Given the description of an element on the screen output the (x, y) to click on. 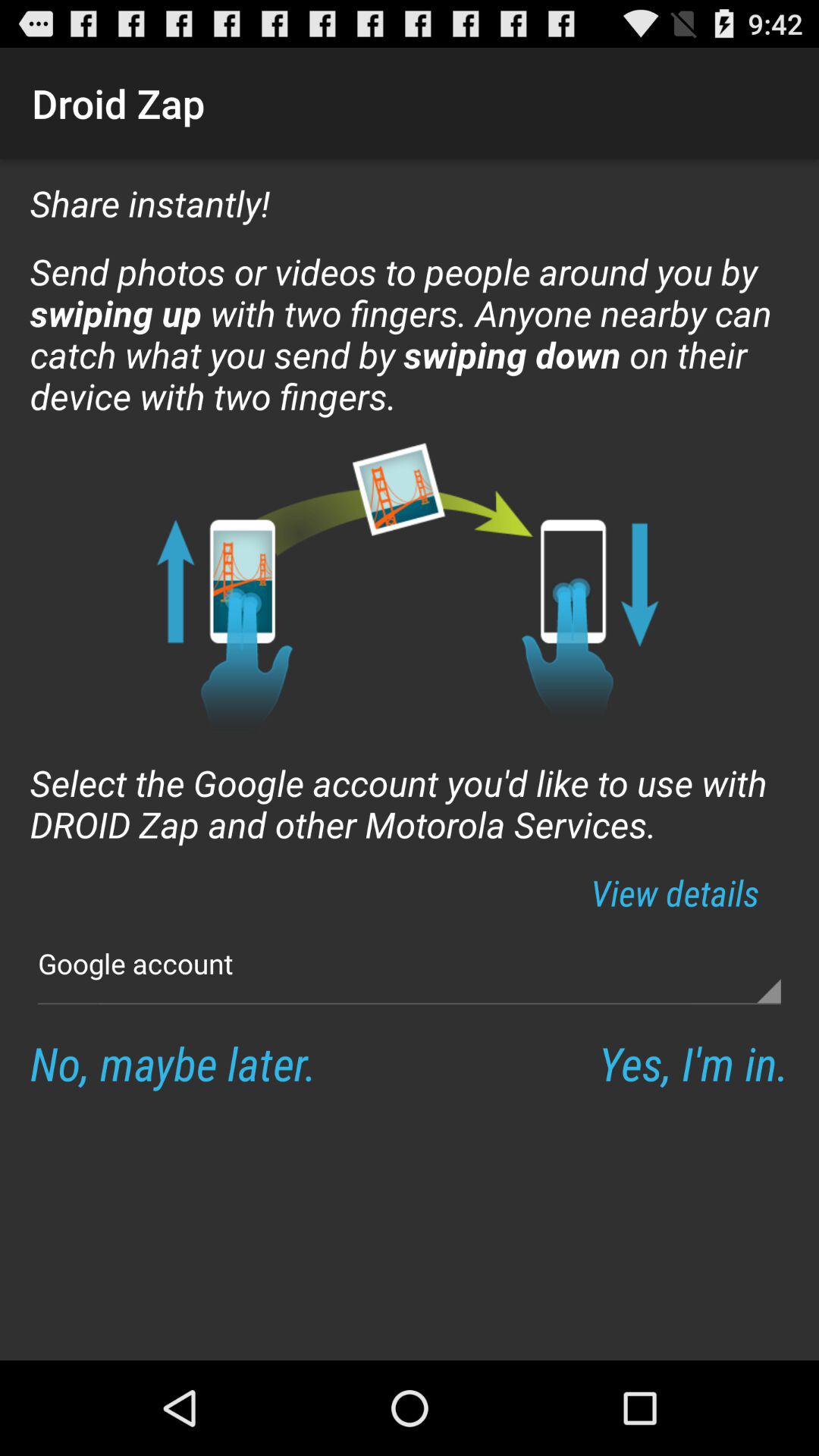
choose the item below google account button (693, 1062)
